Given the description of an element on the screen output the (x, y) to click on. 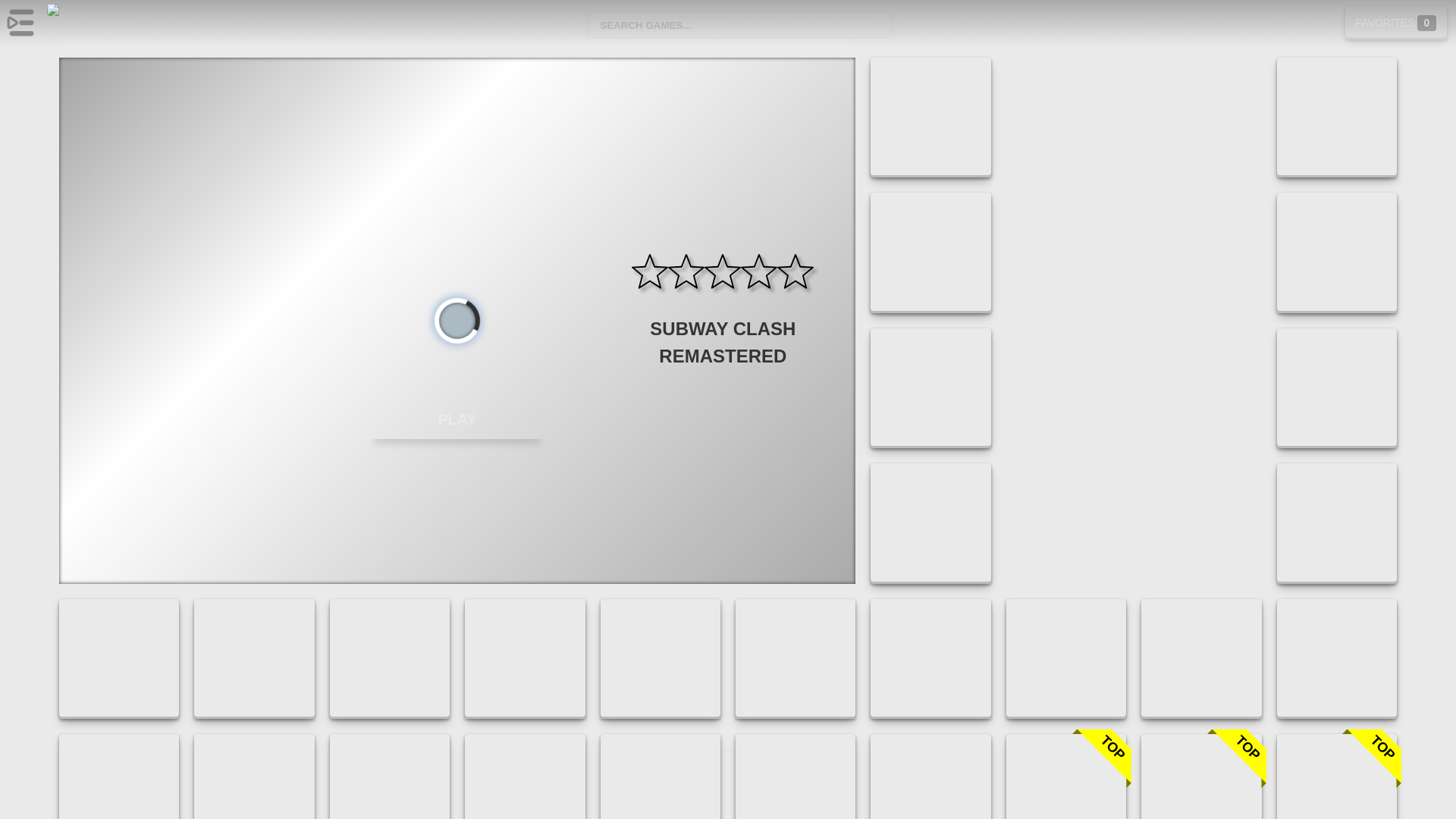
PLAY (456, 419)
FAVORITES 0 (1396, 21)
Free Online Games (91, 22)
